Given the description of an element on the screen output the (x, y) to click on. 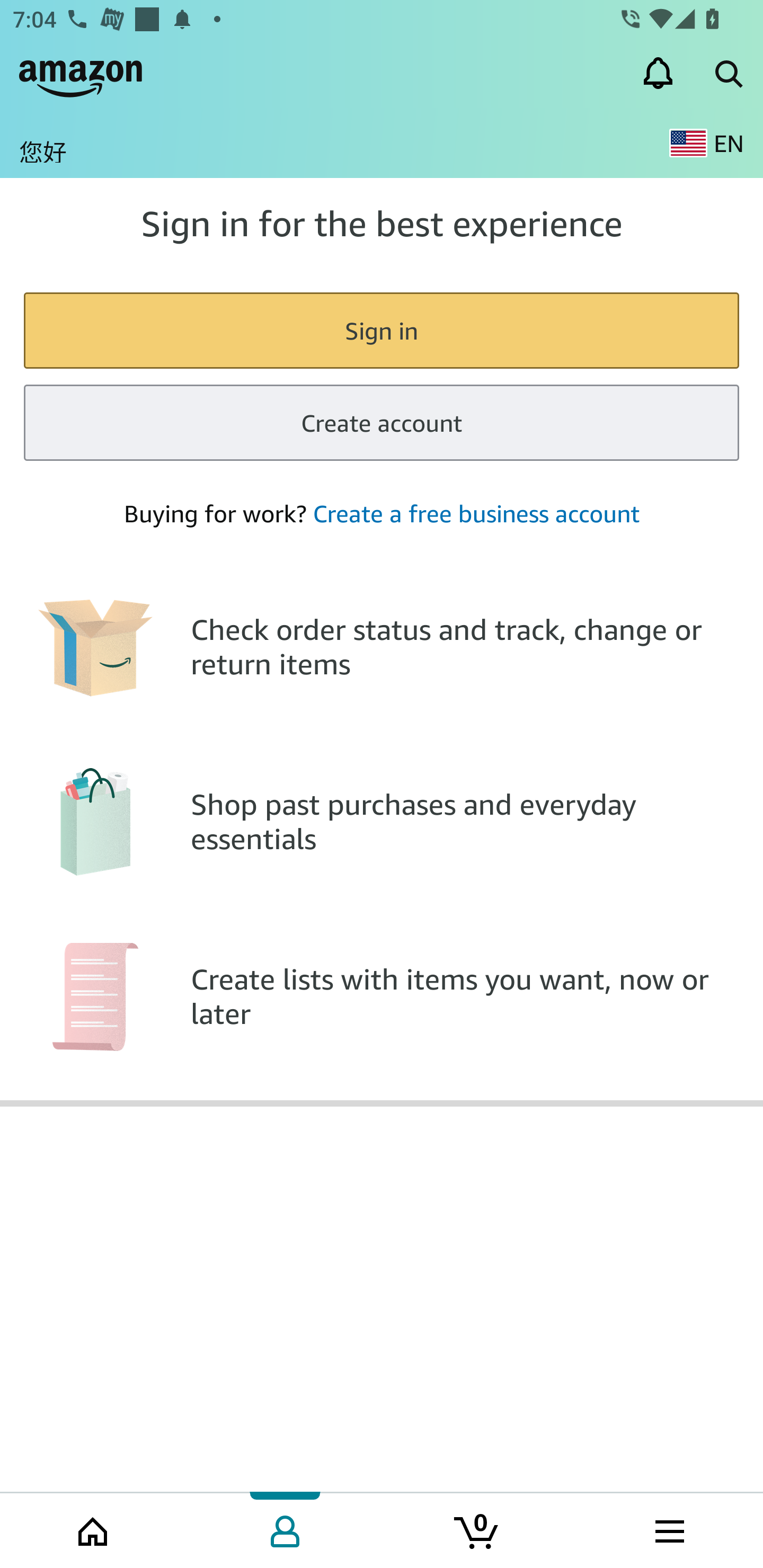
Amazon (81, 72)
Notification Hub (657, 72)
Search (727, 72)
anx_me_country_and_language EN (706, 143)
sib Sign in (381, 329)
cab Create account (381, 422)
Home Tab 1 of 4 (94, 1529)
Your Amazon.com Tab 2 of 4 (285, 1529)
Cart 0 item Tab 3 of 4 0 (477, 1529)
Browse menu Tab 4 of 4 (668, 1529)
